Given the description of an element on the screen output the (x, y) to click on. 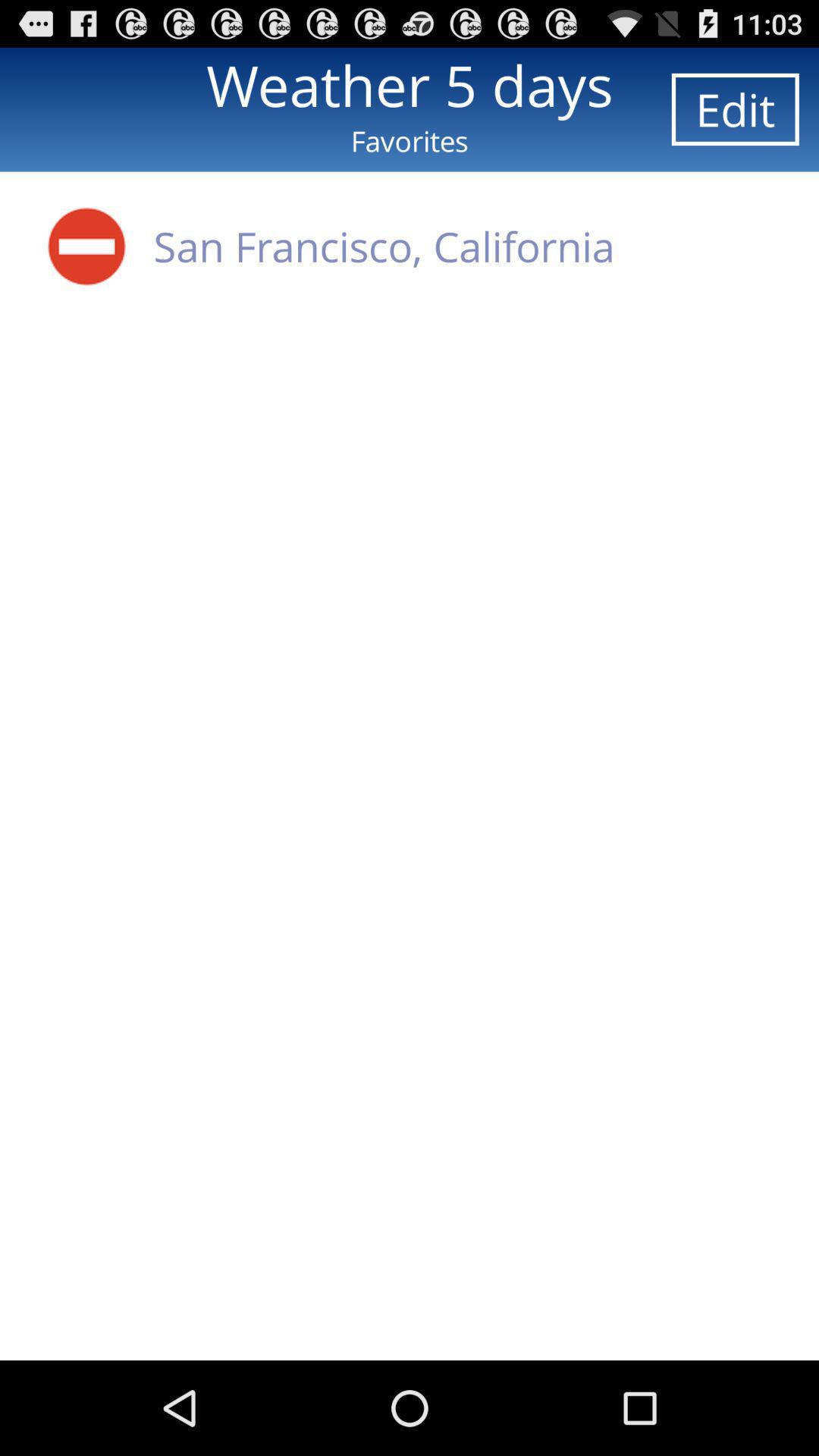
turn on the   edit (735, 109)
